Given the description of an element on the screen output the (x, y) to click on. 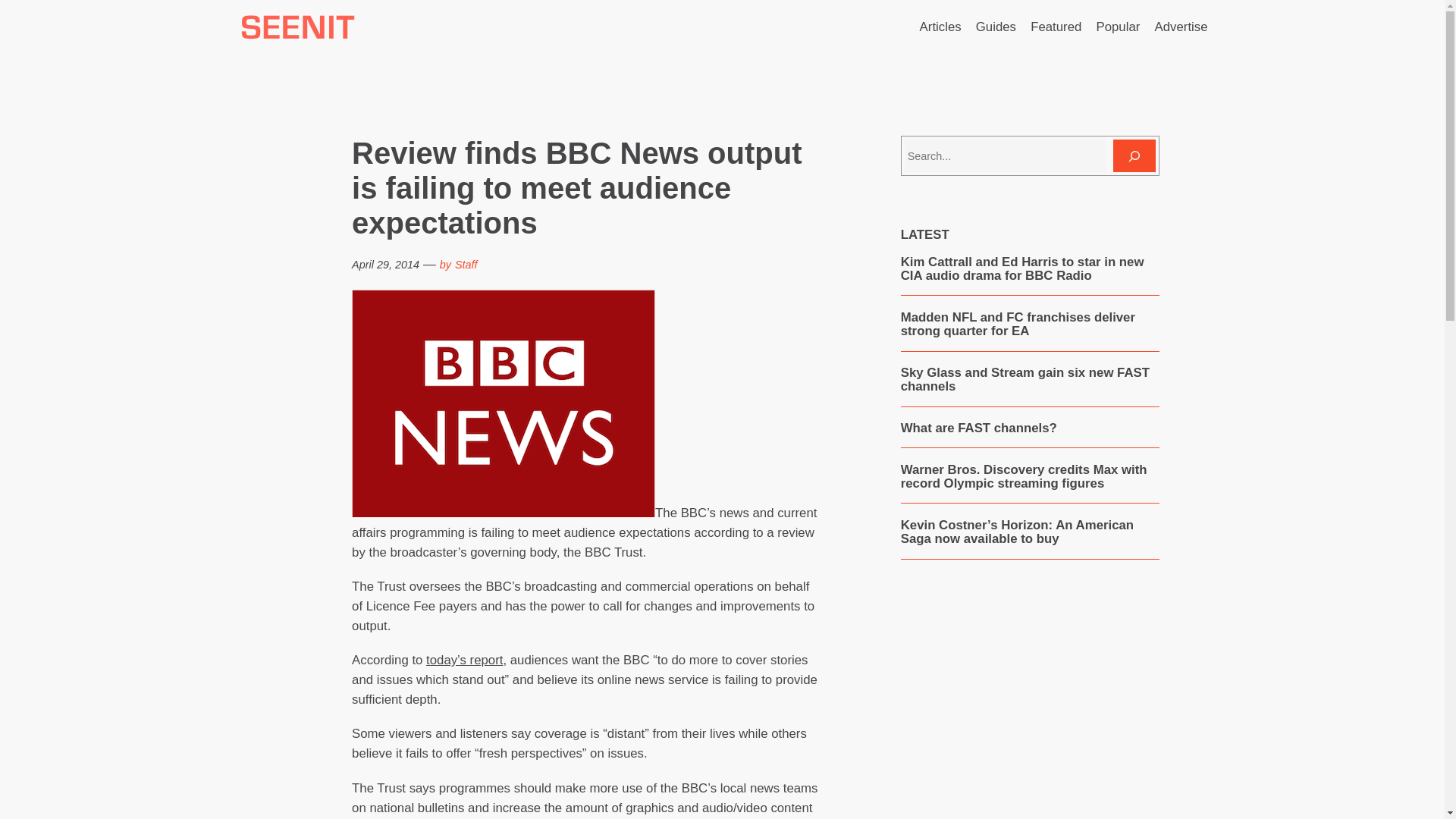
Popular (1118, 26)
Madden NFL and FC franchises deliver strong quarter for EA (1029, 325)
What are FAST channels? (979, 427)
Articles (940, 26)
Advertise (1181, 26)
Featured (1055, 26)
Guides (995, 26)
Sky Glass and Stream gain six new FAST channels  (1029, 379)
Staff (465, 264)
